Given the description of an element on the screen output the (x, y) to click on. 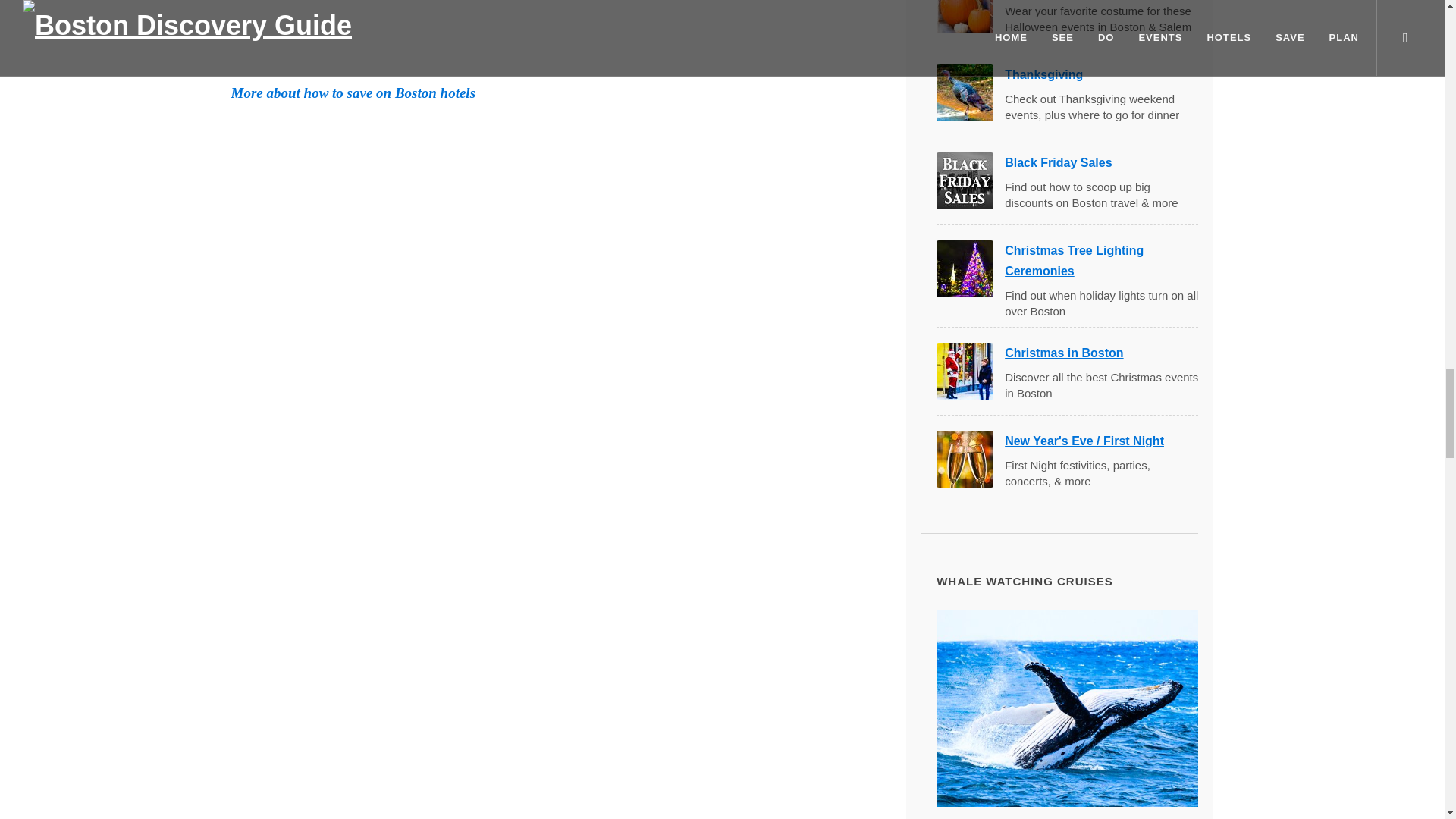
Wild turkey crossing road -  Boston (964, 92)
Black Friday sales and deals in Boston (964, 180)
October in Boston (964, 16)
